Given the description of an element on the screen output the (x, y) to click on. 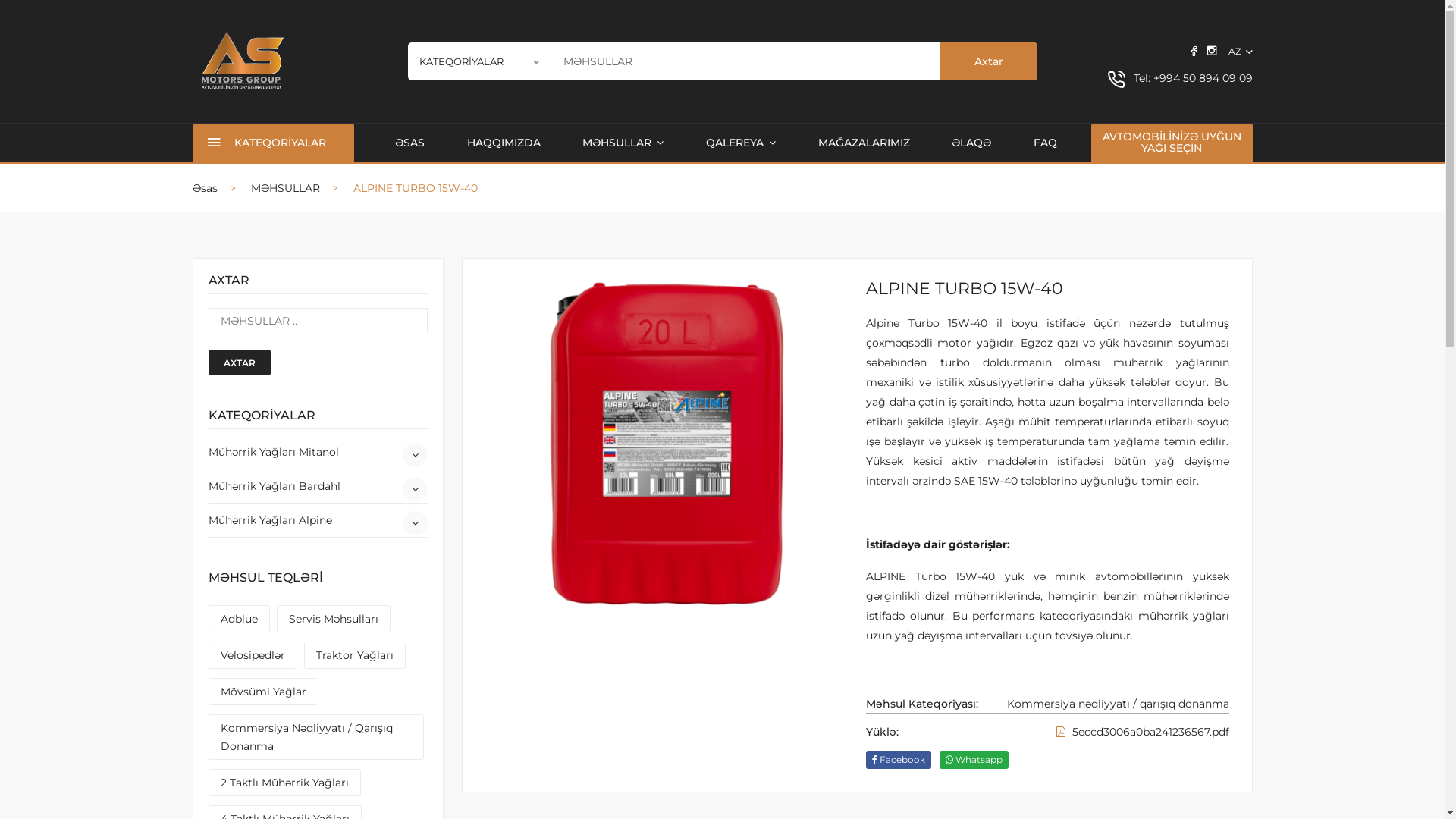
Facebook Element type: text (898, 759)
Axtar Element type: text (988, 61)
AXTAR Element type: text (238, 362)
AZ Element type: text (1240, 51)
+994 50 894 09 09 Element type: text (1202, 77)
5eccd3006a0ba241236567.pdf Element type: text (1141, 731)
QALEREYA Element type: text (740, 142)
FAQ Element type: text (1045, 142)
Adblue Element type: text (238, 618)
Whatsapp Element type: text (973, 759)
HAQQIMIZDA Element type: text (503, 142)
